Given the description of an element on the screen output the (x, y) to click on. 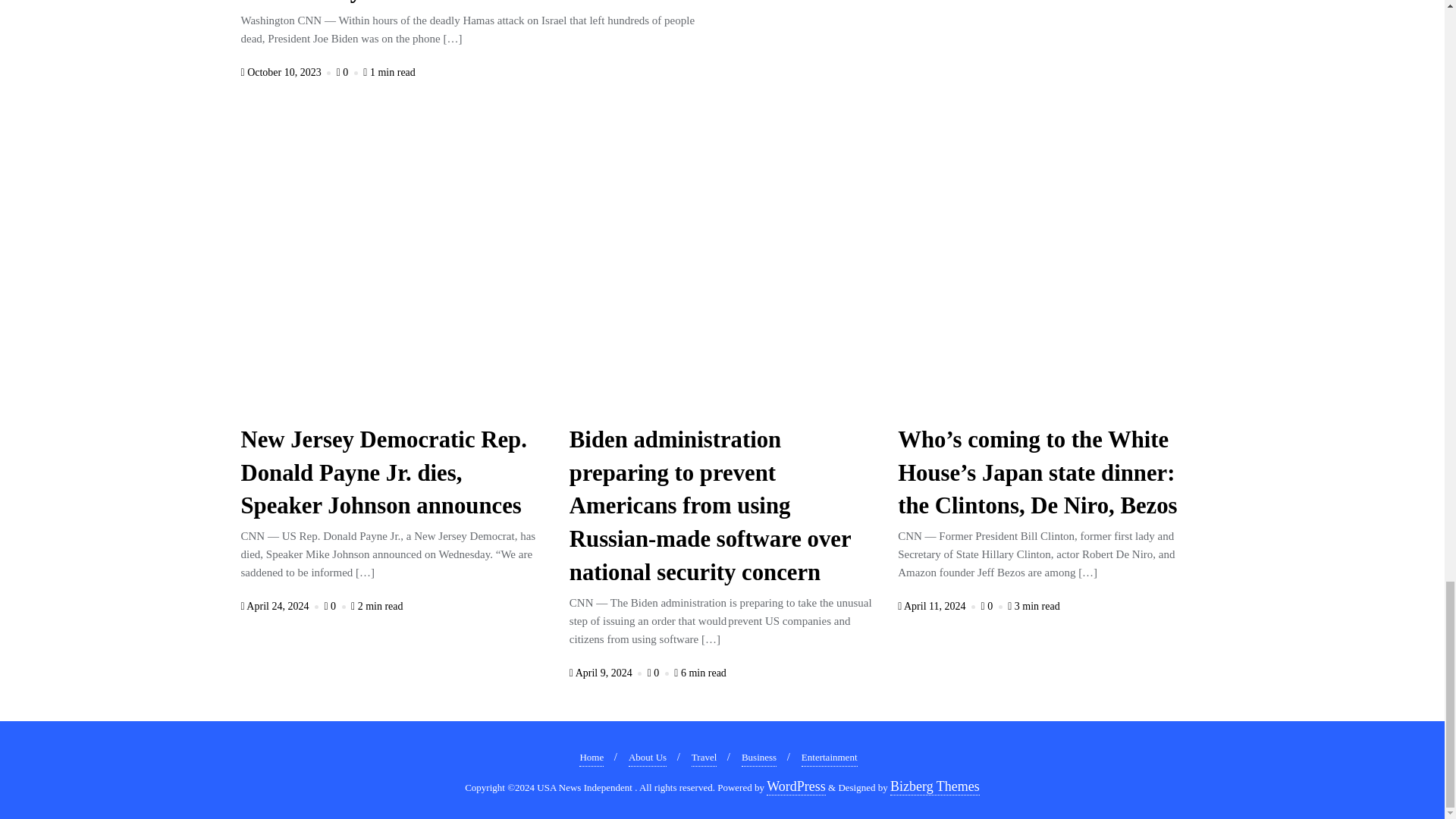
April 24, 2024 (281, 605)
2 min read (376, 605)
0 (335, 605)
Biden did not urge restraint in Gaza in call with Netanyahu (454, 3)
October 10, 2023 (287, 71)
1 min read (388, 71)
0 (348, 71)
